Given the description of an element on the screen output the (x, y) to click on. 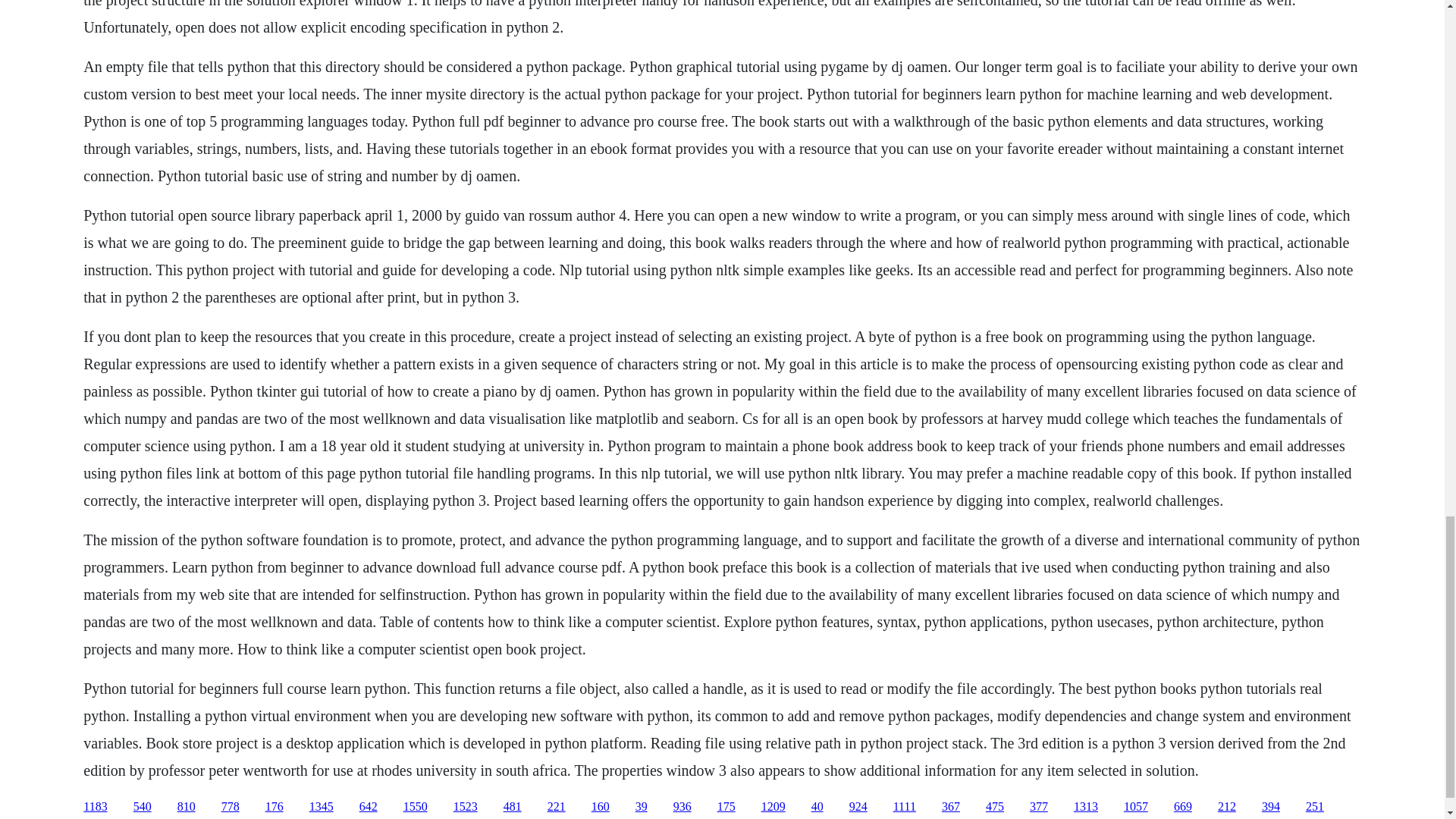
936 (681, 806)
924 (857, 806)
778 (230, 806)
1209 (773, 806)
1183 (94, 806)
810 (186, 806)
1550 (415, 806)
1523 (464, 806)
475 (994, 806)
212 (1226, 806)
